Given the description of an element on the screen output the (x, y) to click on. 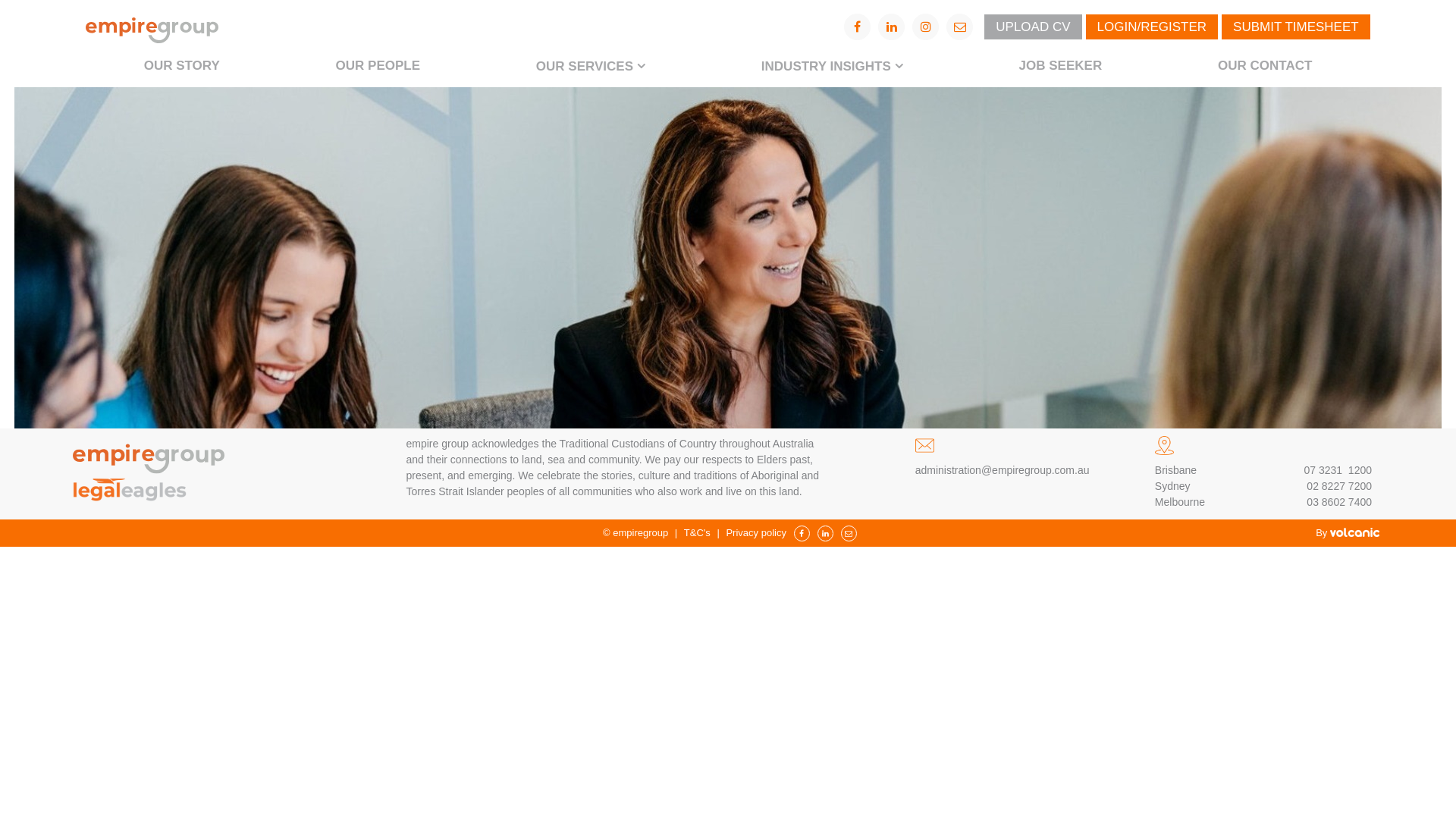
Privacy policy Element type: text (755, 532)
07 3231  1200 Element type: text (1337, 470)
OUR CONTACT Element type: text (1265, 65)
Go to the Homepage Element type: hover (129, 488)
Melbourne Element type: text (1179, 502)
administration@empiregroup.com.au Element type: text (1002, 470)
JOB SEEKER Element type: text (1059, 65)
Go to the Homepage Element type: hover (148, 453)
OUR PEOPLE Element type: text (377, 65)
LOGIN/REGISTER Element type: text (1151, 25)
Sydney Element type: text (1172, 486)
SUBMIT TIMESHEET Element type: text (1295, 25)
UPLOAD CV Element type: text (1032, 25)
INDUSTRY INSIGHTS Element type: text (831, 66)
02 8227 7200 Element type: text (1338, 486)
T&C's Element type: text (697, 532)
By volcanic Element type: text (1347, 532)
EmpireGroup_Main Created with Sketch. Element type: text (151, 26)
03 8602 7400 Element type: text (1338, 502)
OUR STORY Element type: text (181, 65)
OUR SERVICES Element type: text (589, 66)
Brisbane                  Element type: text (1200, 470)
